Given the description of an element on the screen output the (x, y) to click on. 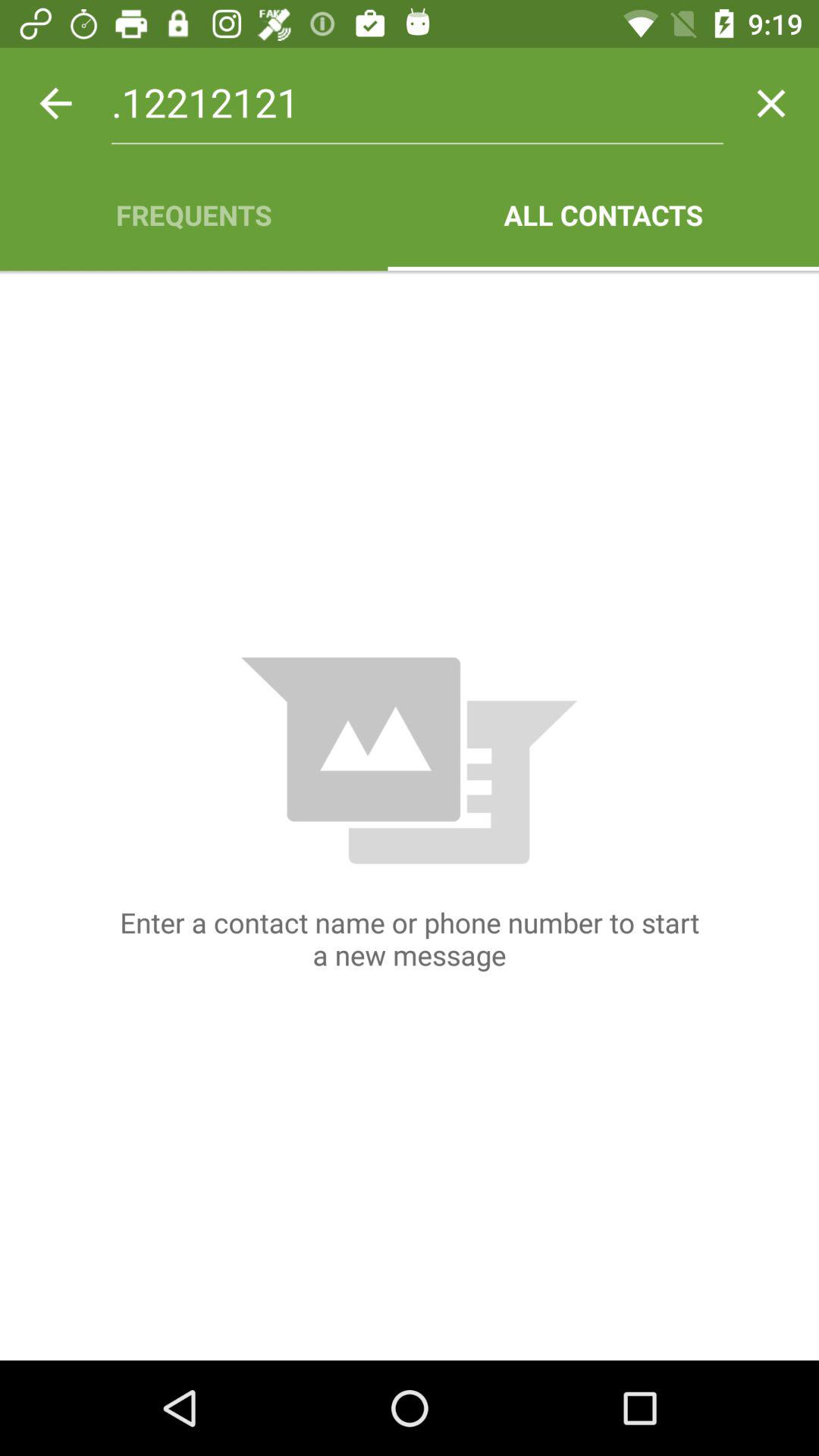
choose app to the right of the frequents item (603, 214)
